Given the description of an element on the screen output the (x, y) to click on. 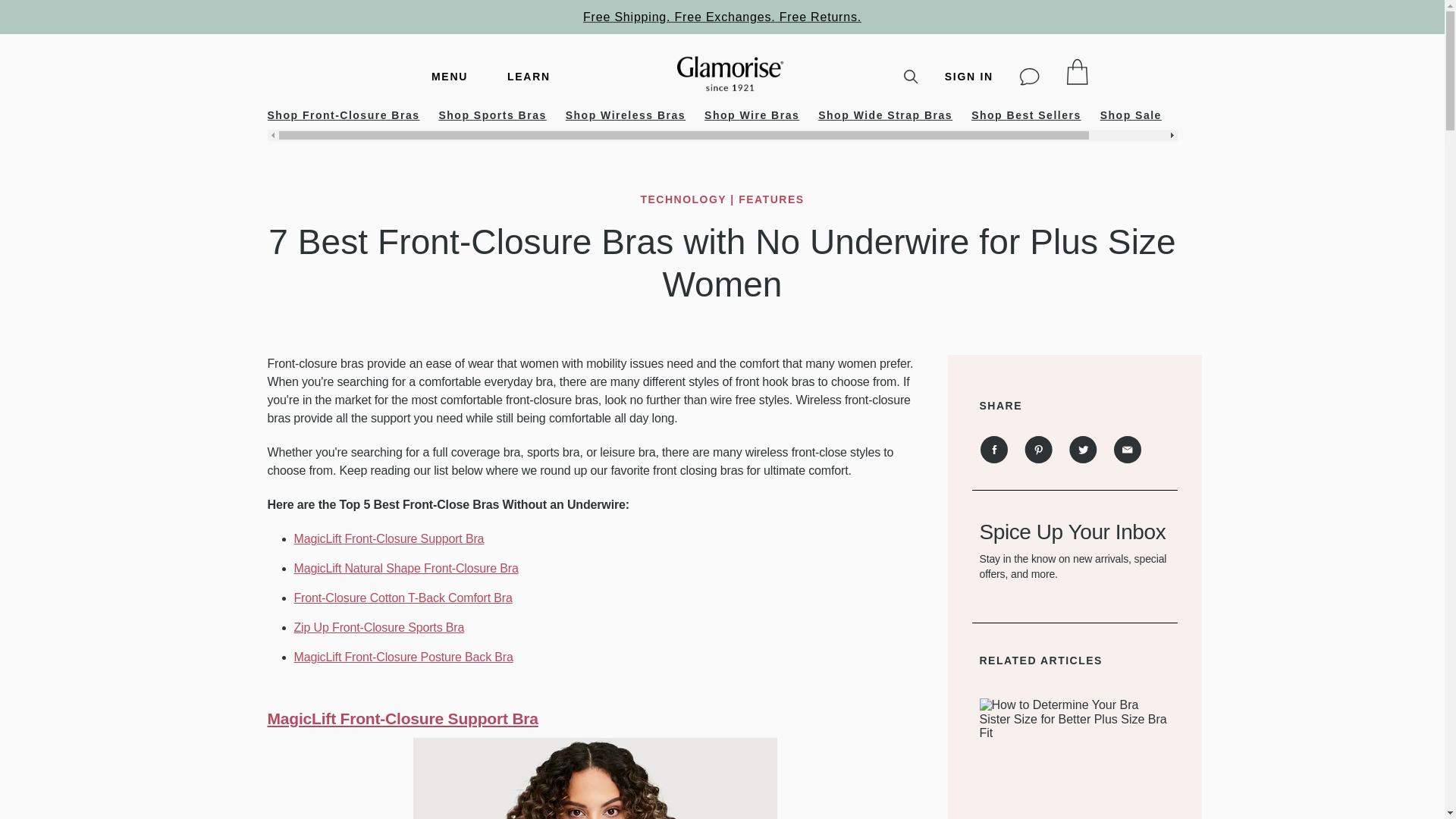
Free Shipping. Free Exchanges. Free Returns. (722, 16)
